Given the description of an element on the screen output the (x, y) to click on. 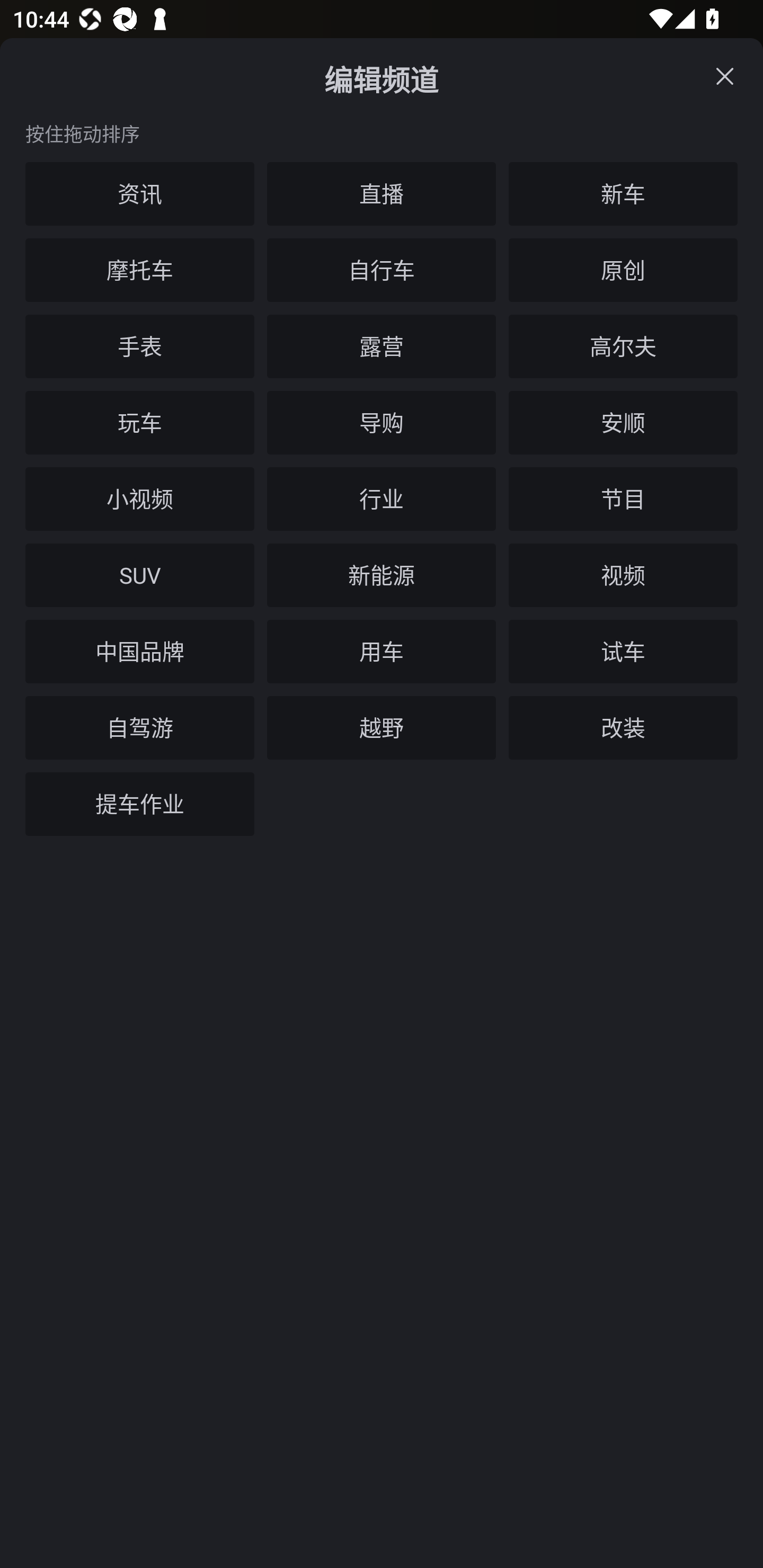
资讯 (139, 193)
直播 (381, 193)
新车 (622, 193)
摩托车 (139, 270)
自行车 (381, 270)
原创 (622, 270)
手表 (139, 346)
露营 (381, 346)
高尔夫 (622, 346)
玩车 (139, 422)
导购 (381, 422)
安顺 (622, 422)
小视频 (139, 498)
行业 (381, 498)
节目 (622, 498)
SUV (139, 575)
新能源 (381, 575)
视频 (622, 575)
中国品牌 (139, 651)
用车 (381, 651)
试车 (622, 651)
自驾游 (139, 727)
越野 (381, 727)
改装 (622, 727)
提车作业 (139, 804)
